Given the description of an element on the screen output the (x, y) to click on. 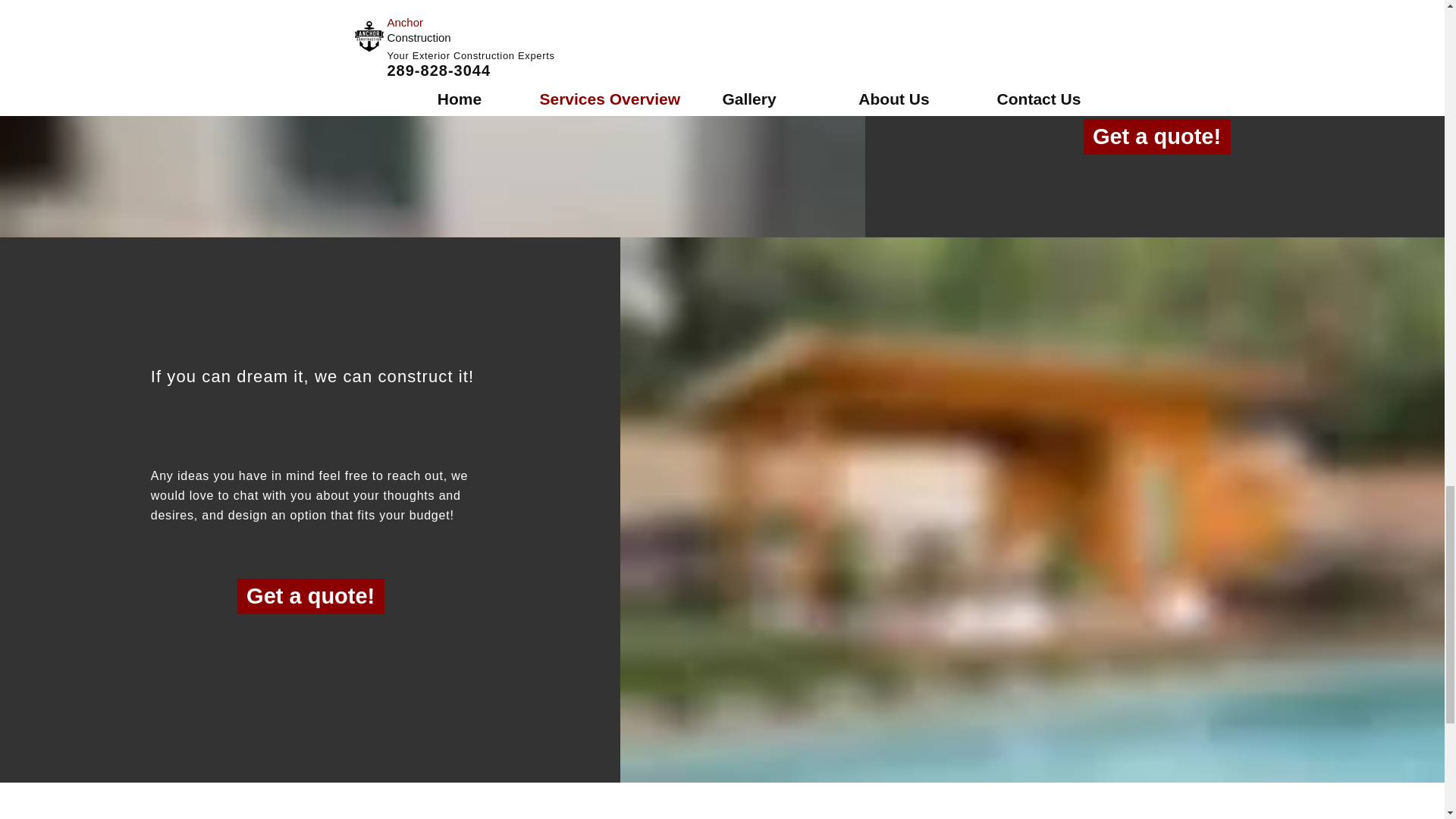
Get a quote! (310, 596)
Get a quote! (1156, 136)
